Given the description of an element on the screen output the (x, y) to click on. 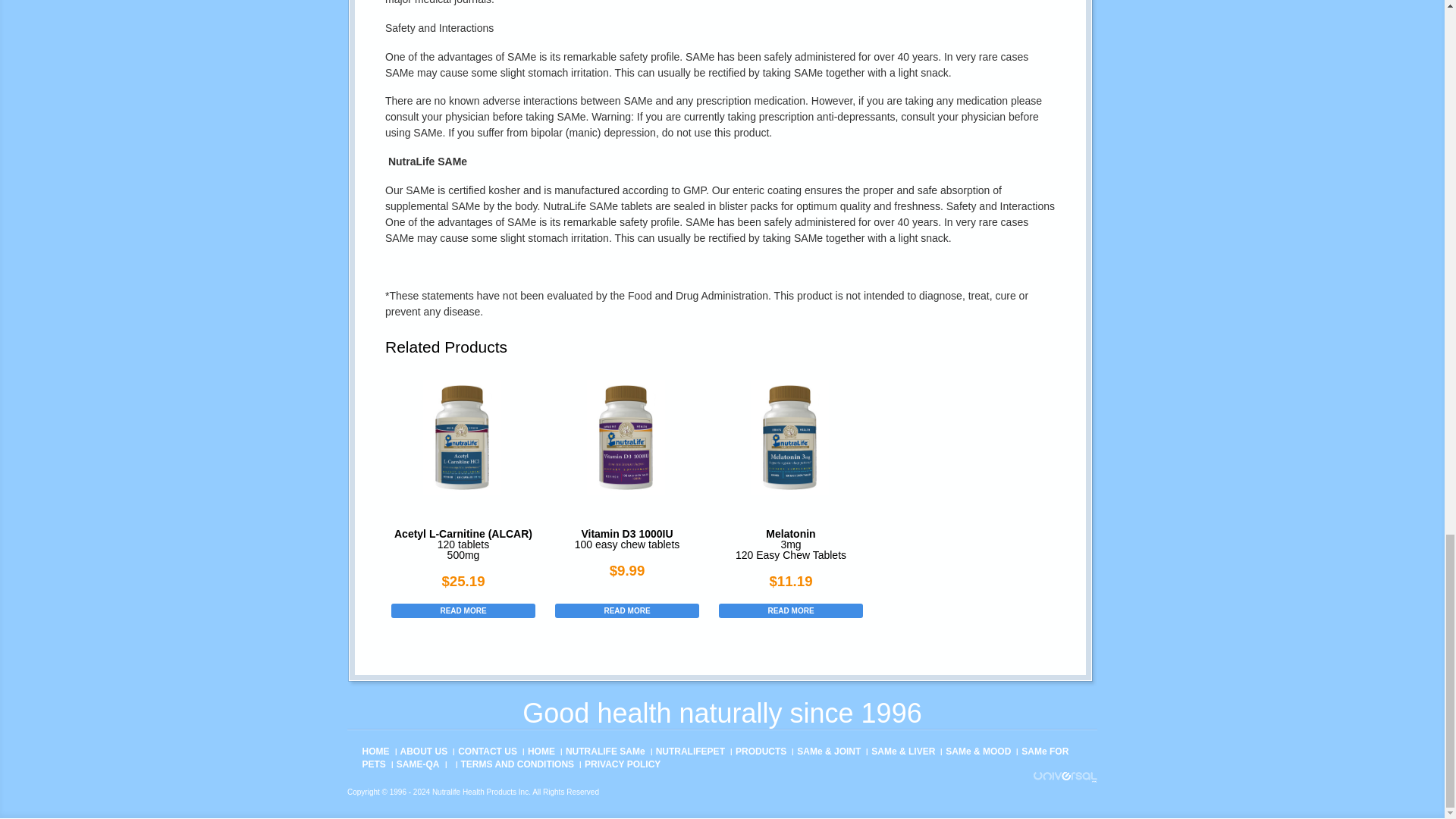
READ MORE (626, 610)
ABOUT US (424, 751)
READ MORE (463, 610)
HOME (376, 751)
READ MORE (791, 610)
